Given the description of an element on the screen output the (x, y) to click on. 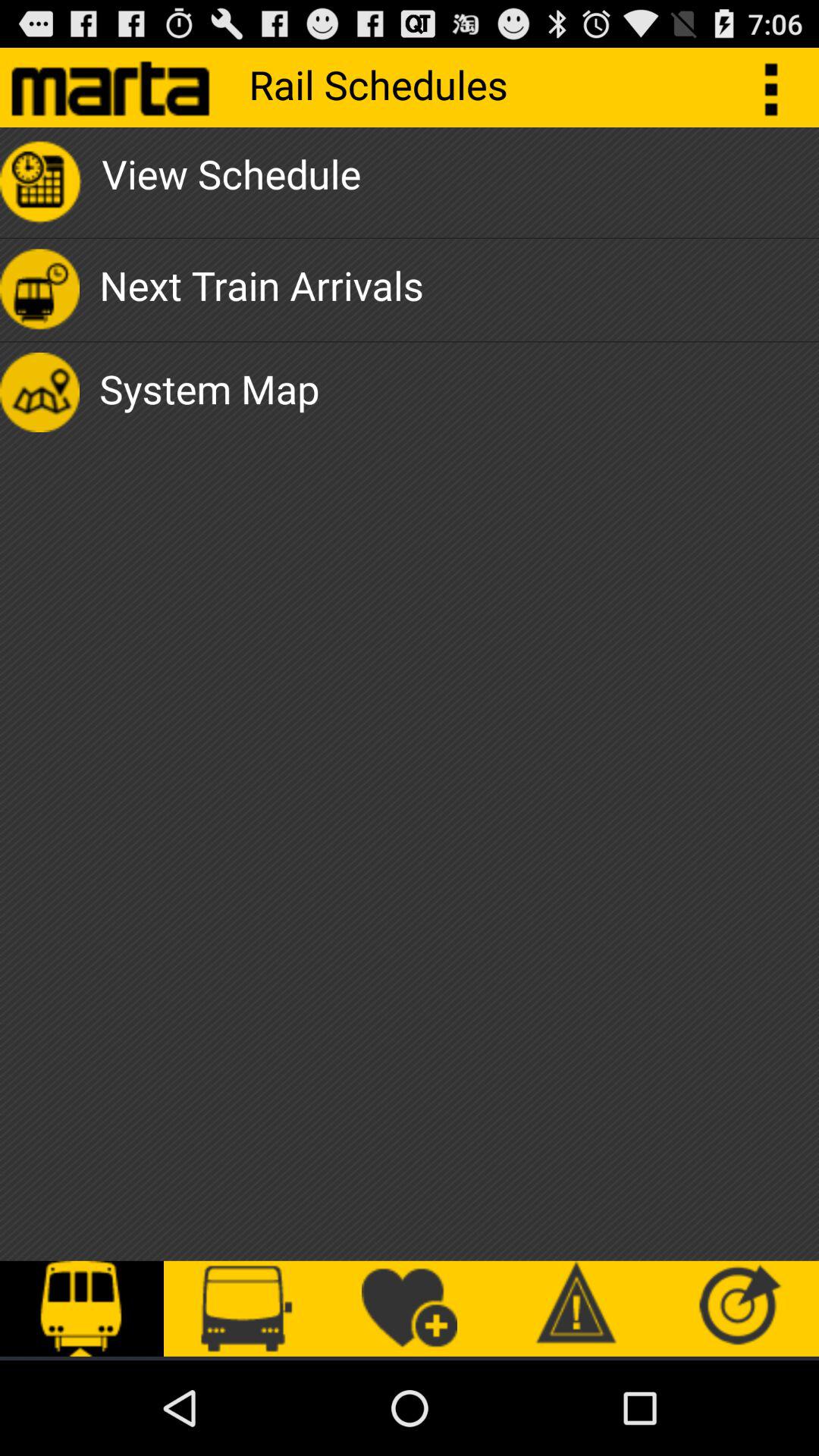
choose view schedule app (231, 182)
